Given the description of an element on the screen output the (x, y) to click on. 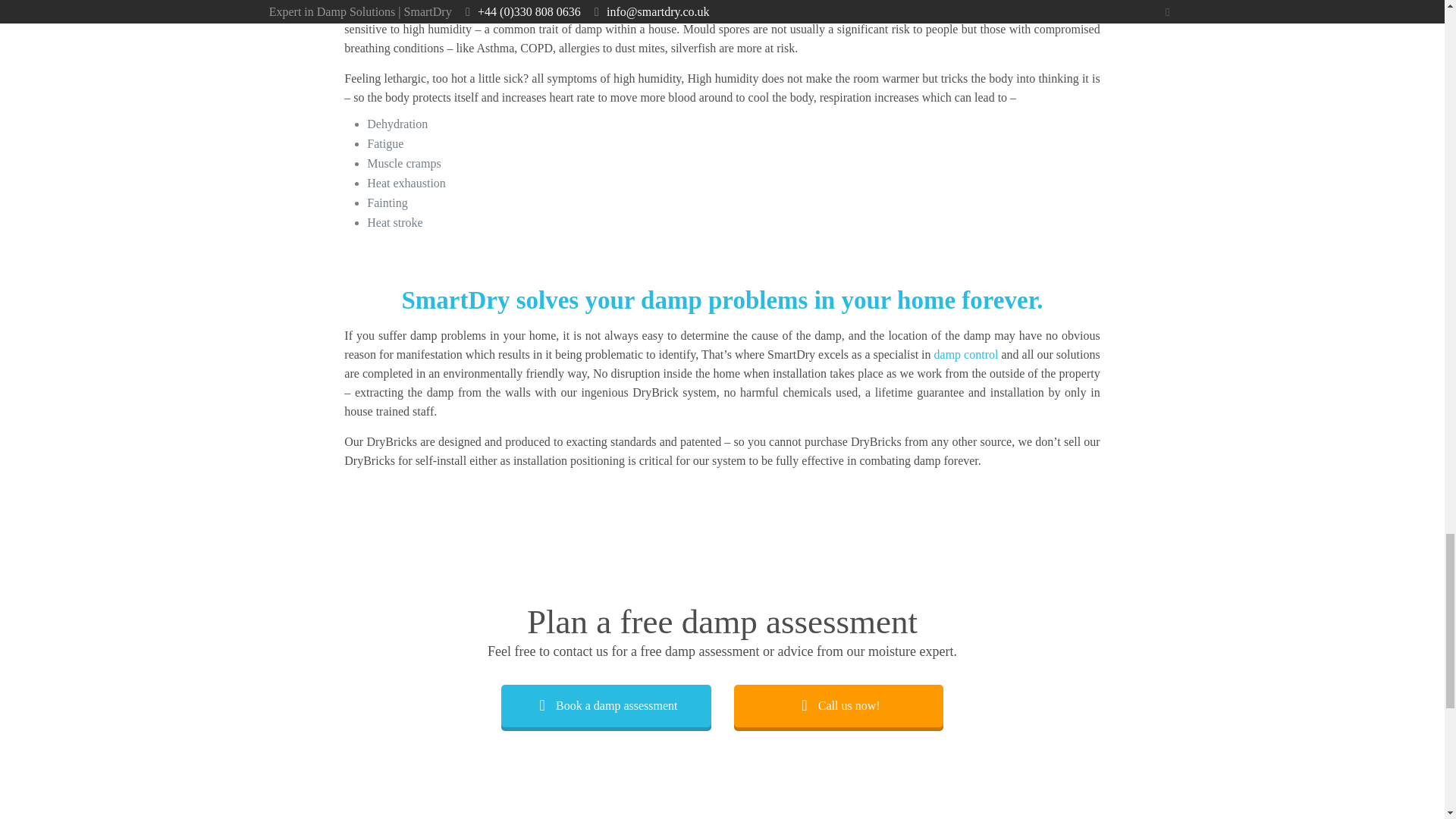
Damp Control (966, 354)
Book a damp assessment (605, 705)
damp control (966, 354)
Call SmartDry (838, 705)
Call us now! (838, 705)
Book a Survey (605, 705)
